Given the description of an element on the screen output the (x, y) to click on. 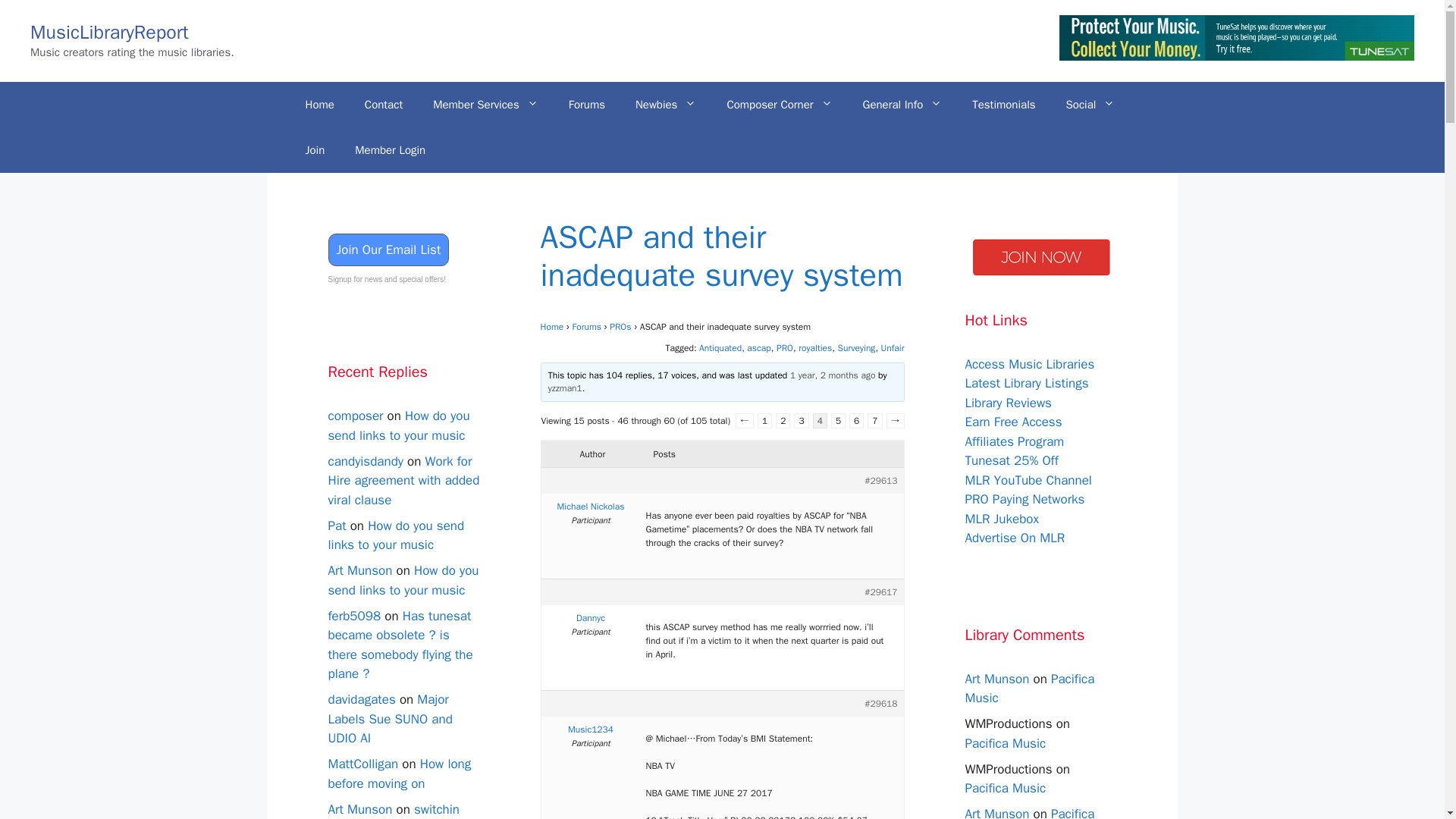
View Music1234's profile (590, 729)
View Michael Nickolas's profile (590, 506)
Member Services (485, 104)
Newbies (665, 104)
Home (319, 104)
Reply To: ASCAP and their inadequate survey system (832, 375)
Contact (383, 104)
Forums (586, 104)
View Dannyc's profile (590, 617)
MusicLibraryReport (109, 31)
Composer Corner (779, 104)
View yzzman1's profile (565, 387)
